Given the description of an element on the screen output the (x, y) to click on. 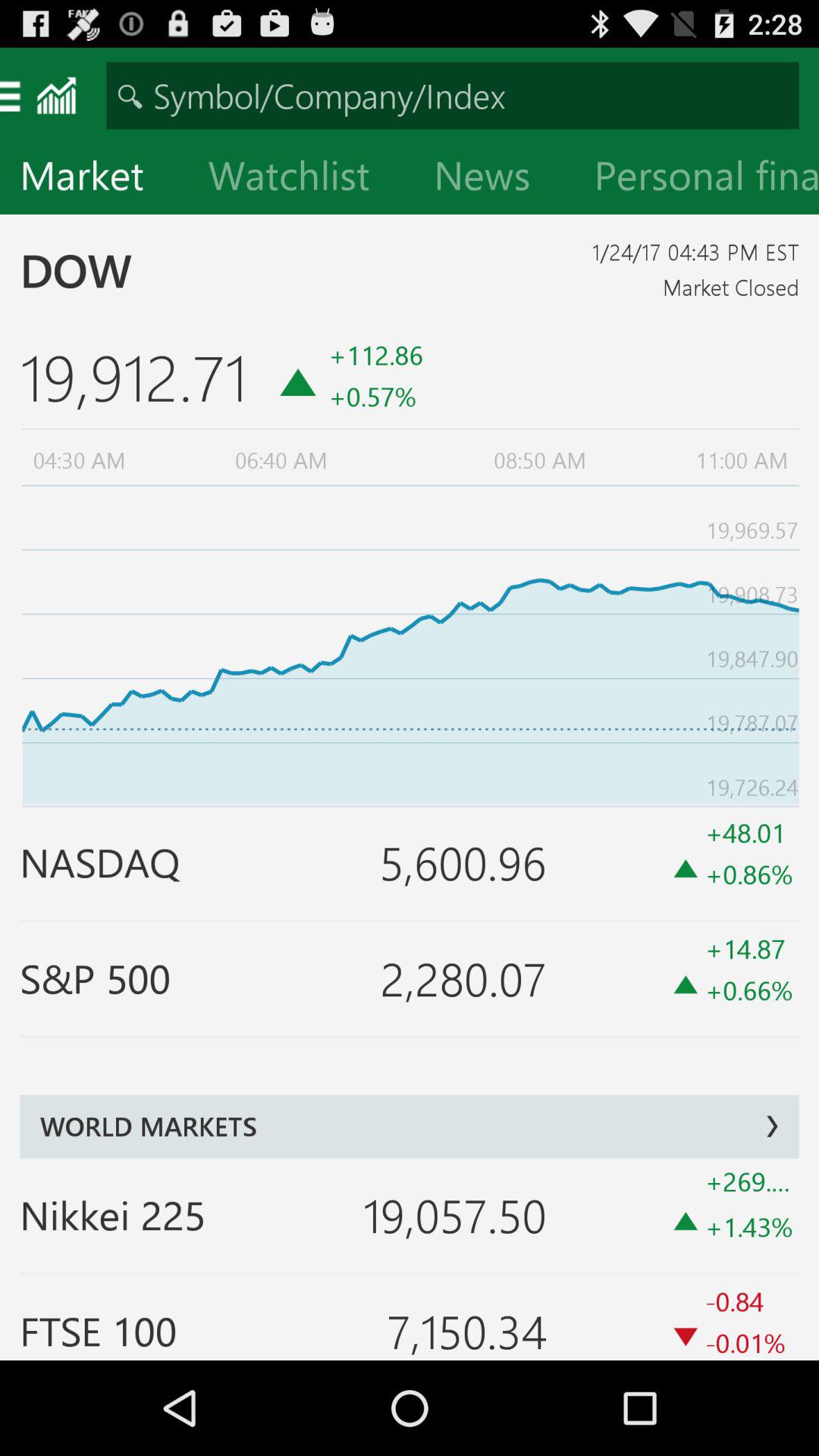
enter symbol or company index (452, 95)
